Given the description of an element on the screen output the (x, y) to click on. 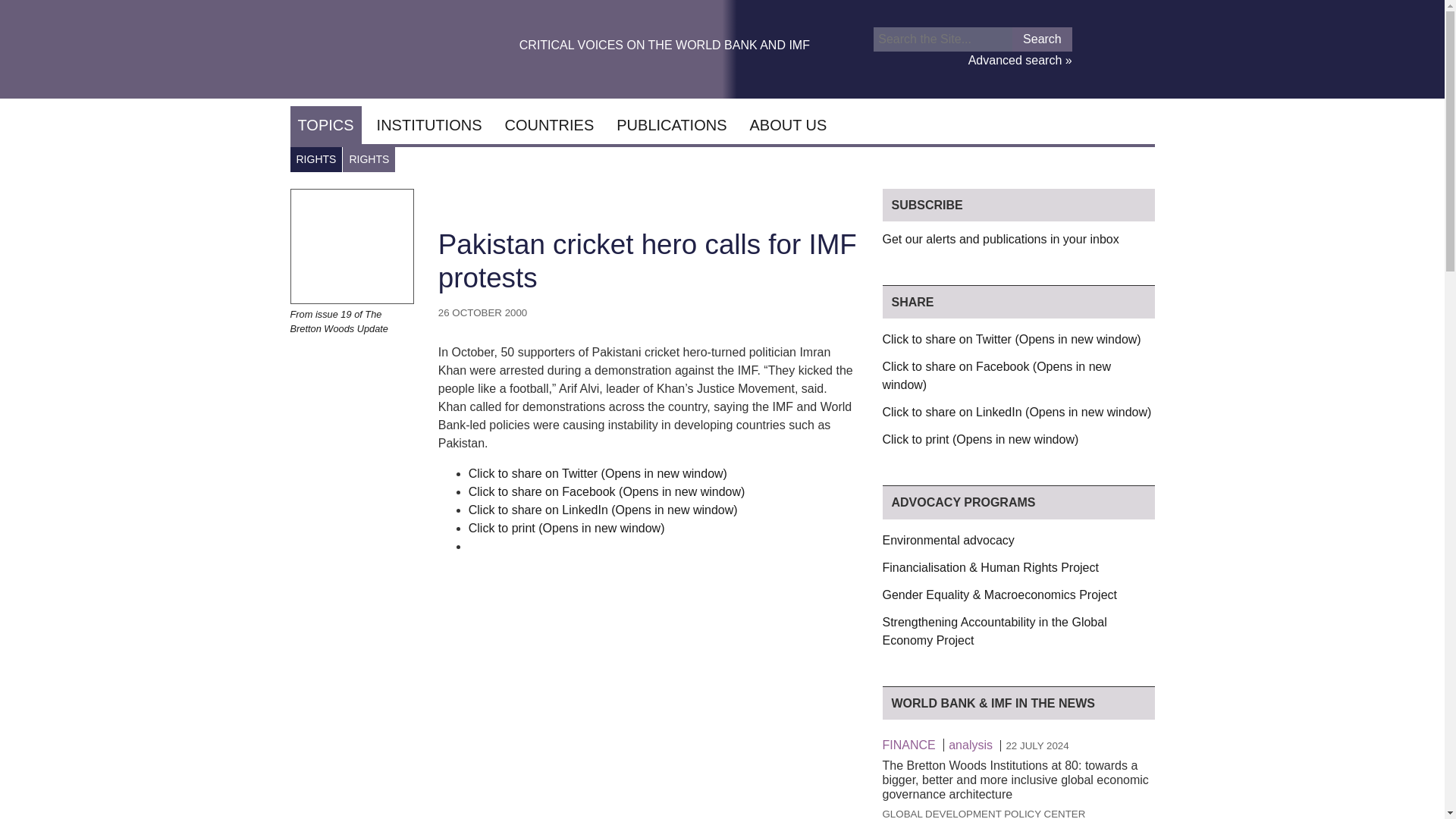
TOPICS (325, 125)
Twitter (1128, 54)
PUBLICATIONS (670, 125)
COUNTRIES (548, 125)
Search (1041, 39)
Click to share on LinkedIn (603, 509)
Click to share on Twitter (597, 472)
Facebook (1101, 54)
Click to share on Facebook (606, 491)
Search (1041, 39)
Click to share on LinkedIn (1016, 411)
Click to share on Facebook (996, 375)
Click to print (566, 527)
Click to print (980, 439)
Click to share on Twitter (1011, 338)
